Given the description of an element on the screen output the (x, y) to click on. 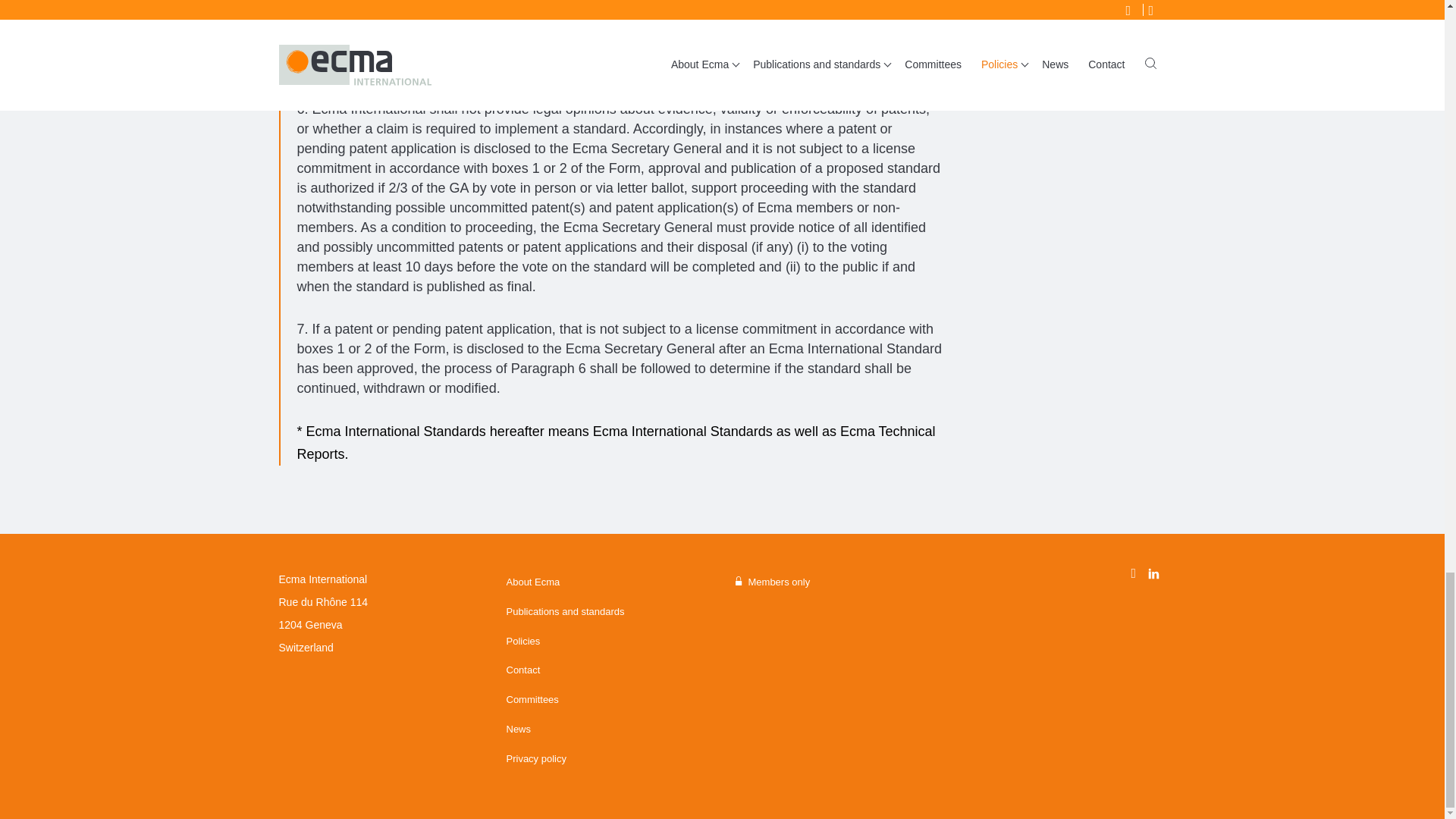
Publications and standards (606, 612)
About Ecma (606, 582)
Committees (606, 699)
Members only (833, 582)
Policies (606, 641)
Twitter (1139, 570)
Contact (606, 670)
Privacy policy (606, 758)
Linkedin (1154, 575)
News (606, 729)
